Given the description of an element on the screen output the (x, y) to click on. 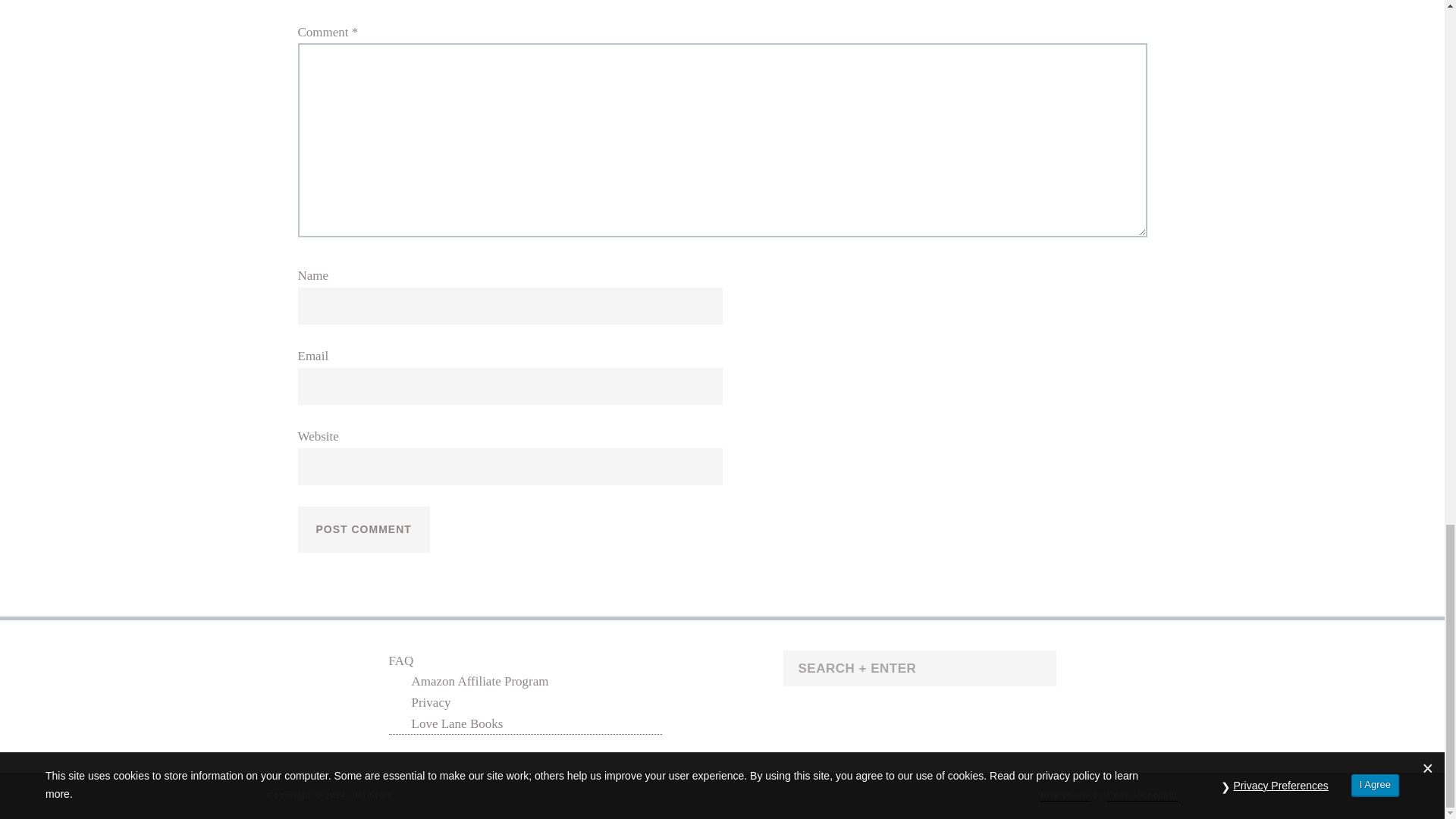
Post Comment (363, 529)
